Given the description of an element on the screen output the (x, y) to click on. 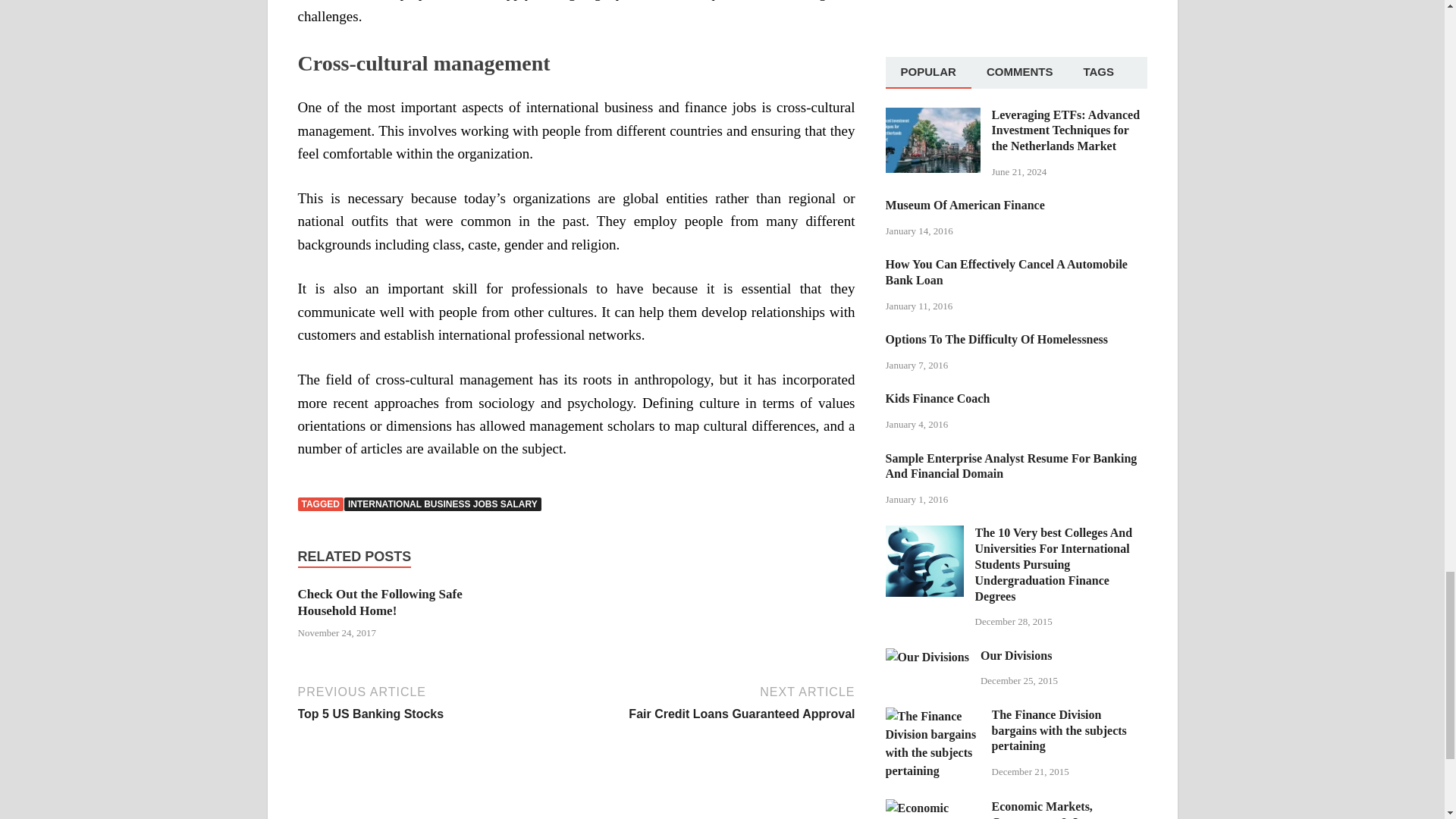
Check Out the Following Safe Household Home! (379, 602)
